Given the description of an element on the screen output the (x, y) to click on. 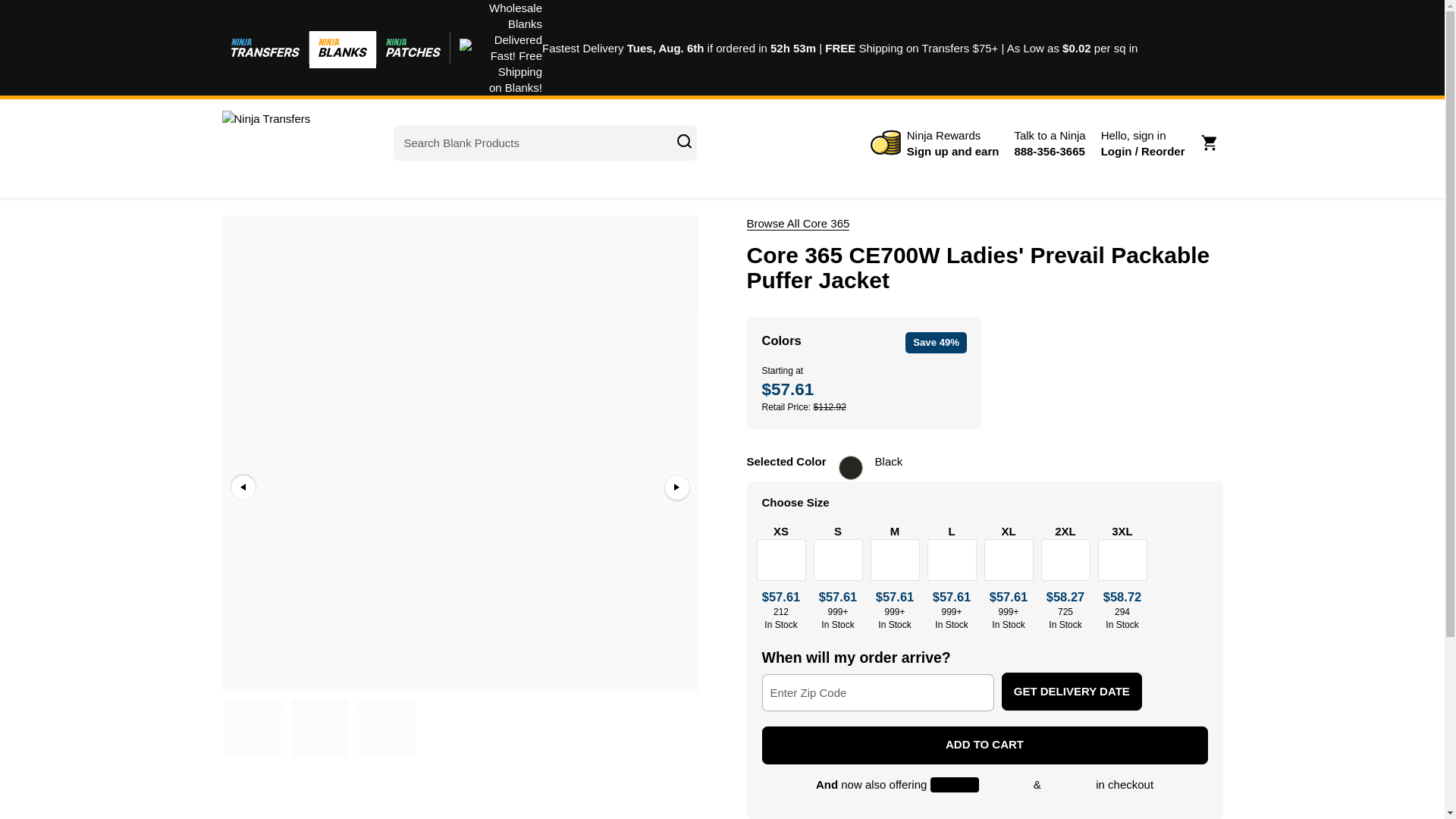
888-356-3665 (1048, 142)
Open cart (1211, 142)
Core 365 (796, 223)
Ninja Transfers (288, 142)
Open cart (1048, 142)
Skip to content (1211, 142)
